Given the description of an element on the screen output the (x, y) to click on. 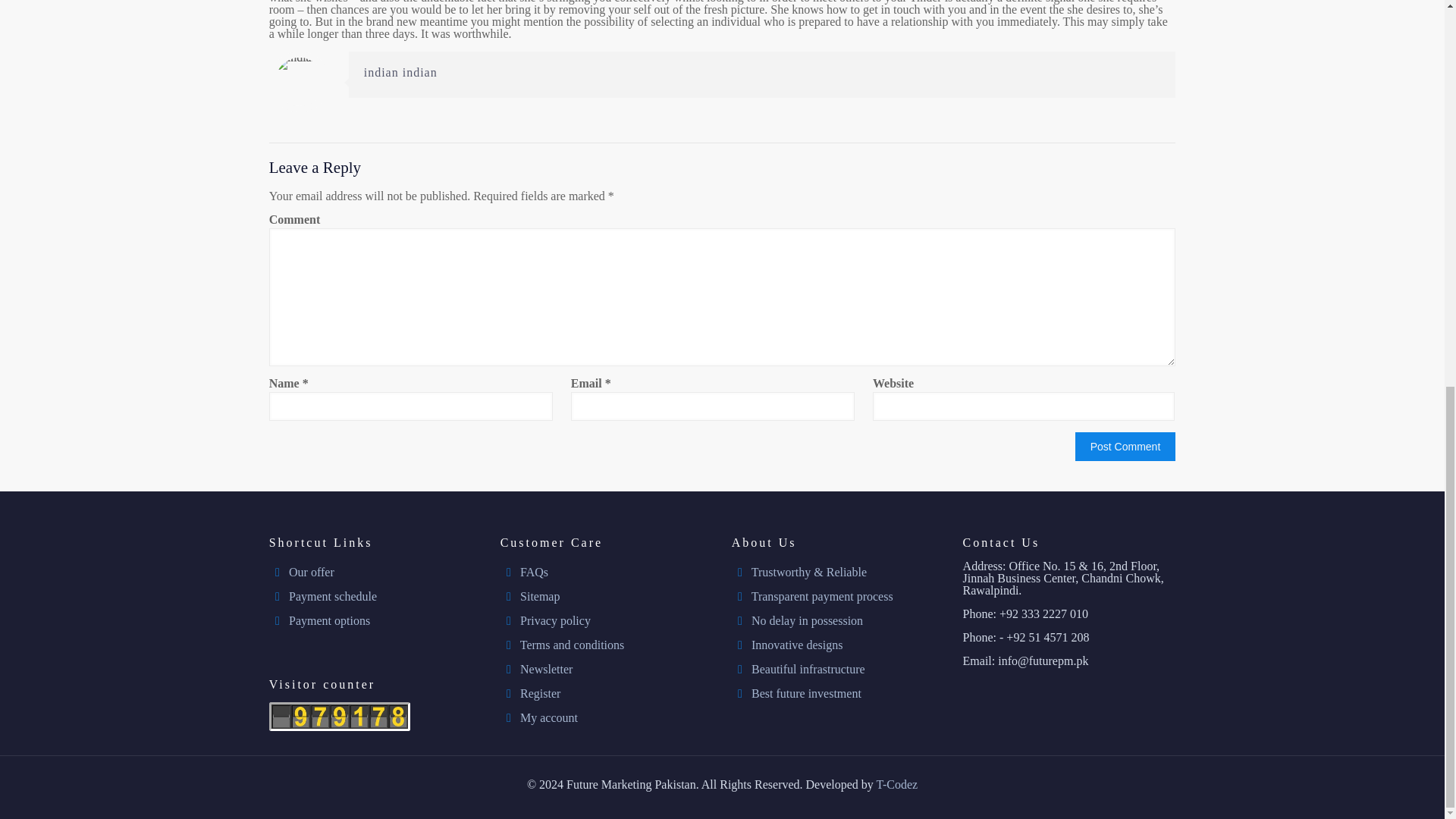
Terms and conditions (571, 644)
Innovative designs (797, 644)
Transparent payment process (822, 595)
No delay in possession (807, 620)
Payment schedule (332, 595)
T-Codez (897, 784)
Beautiful infrastructure (807, 668)
Register (539, 693)
Sitemap (539, 595)
Post Comment (1125, 446)
